Given the description of an element on the screen output the (x, y) to click on. 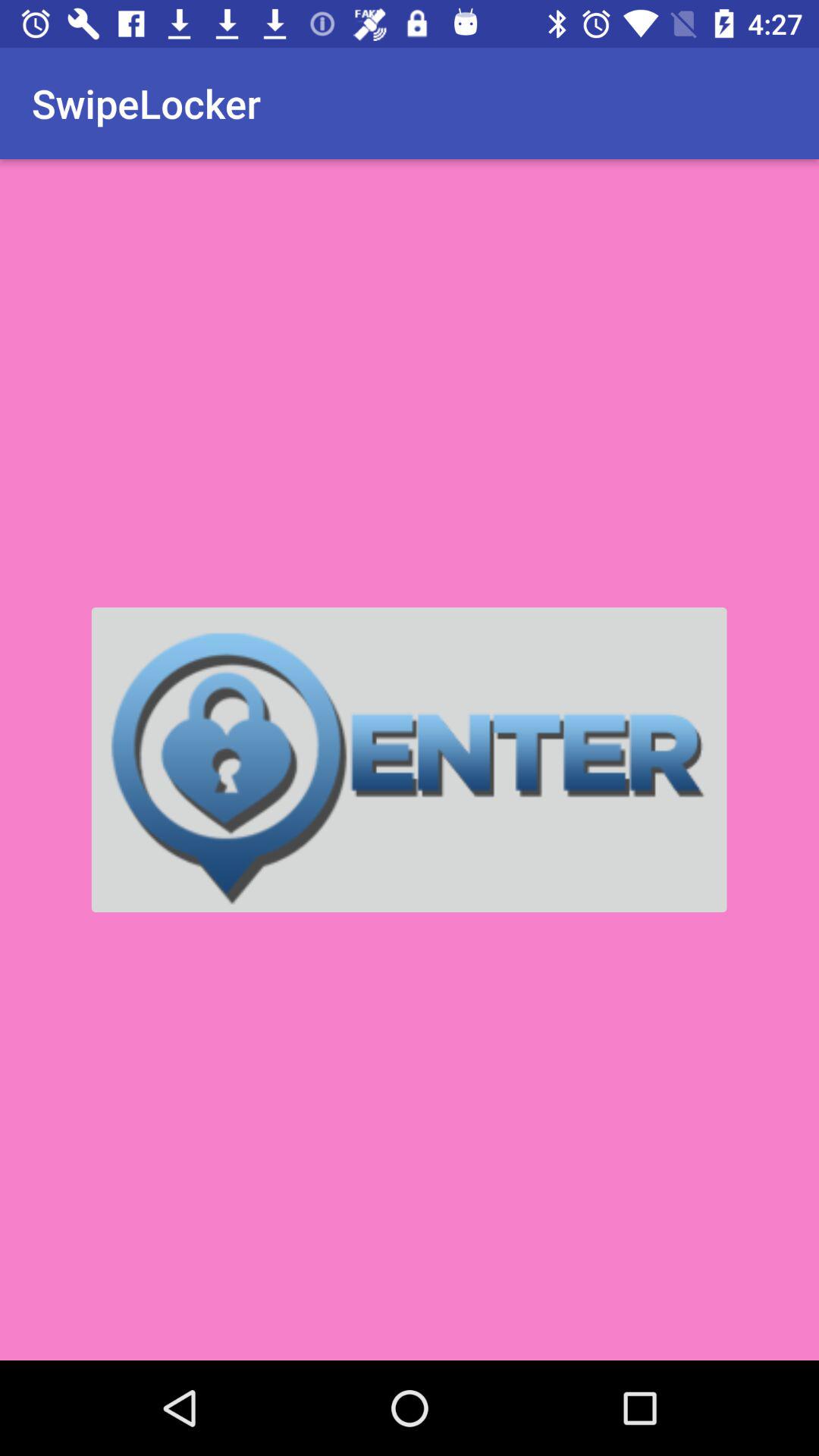
turn off the item below the swipelocker icon (408, 759)
